Given the description of an element on the screen output the (x, y) to click on. 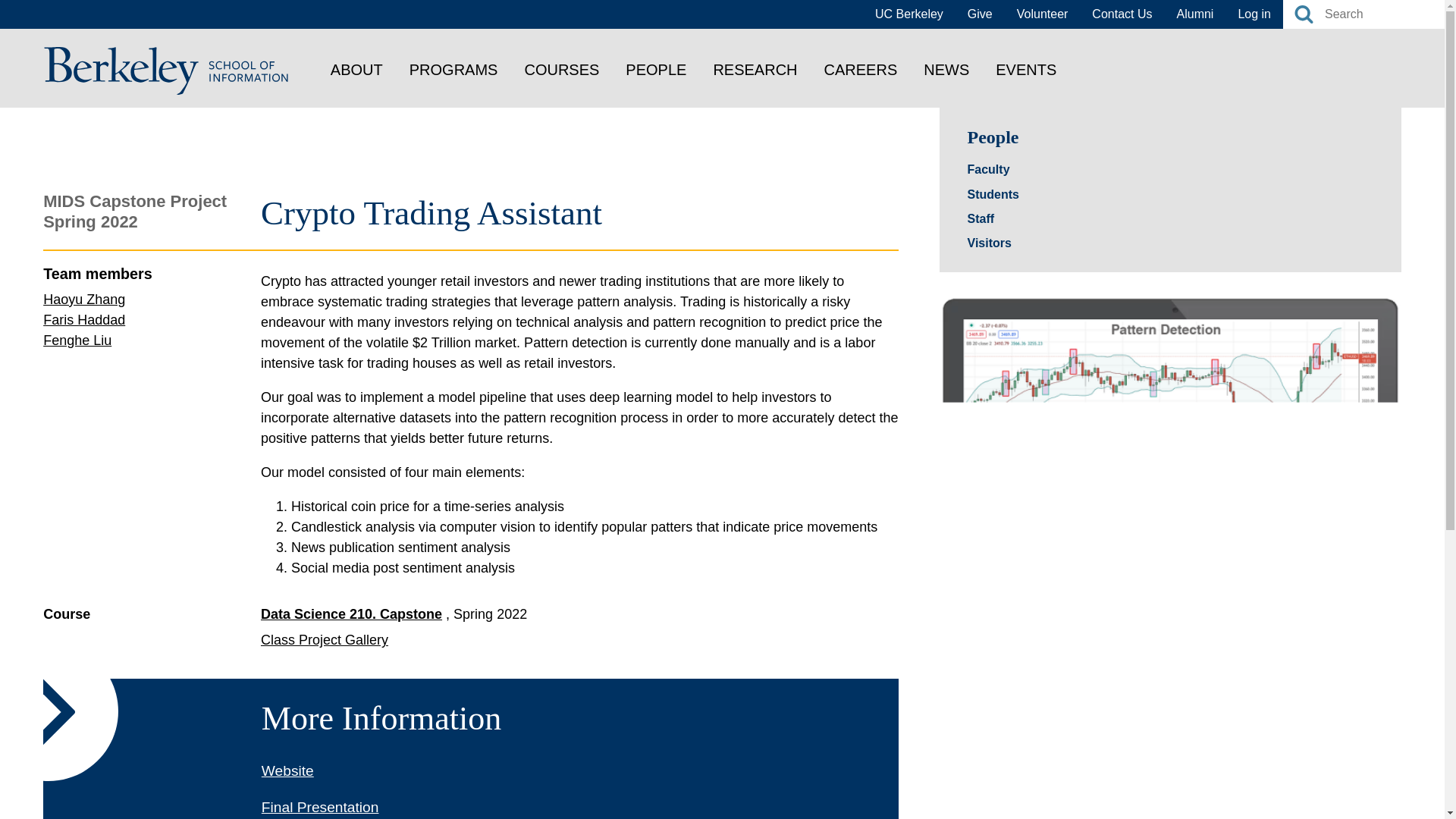
Give (979, 14)
Contact Us (1121, 14)
Alumni (1194, 14)
Log in (1253, 14)
ABOUT (356, 69)
PROGRAMS (453, 69)
Volunteer (1042, 14)
Search (1303, 13)
UC Berkeley (909, 14)
Home (166, 69)
